Given the description of an element on the screen output the (x, y) to click on. 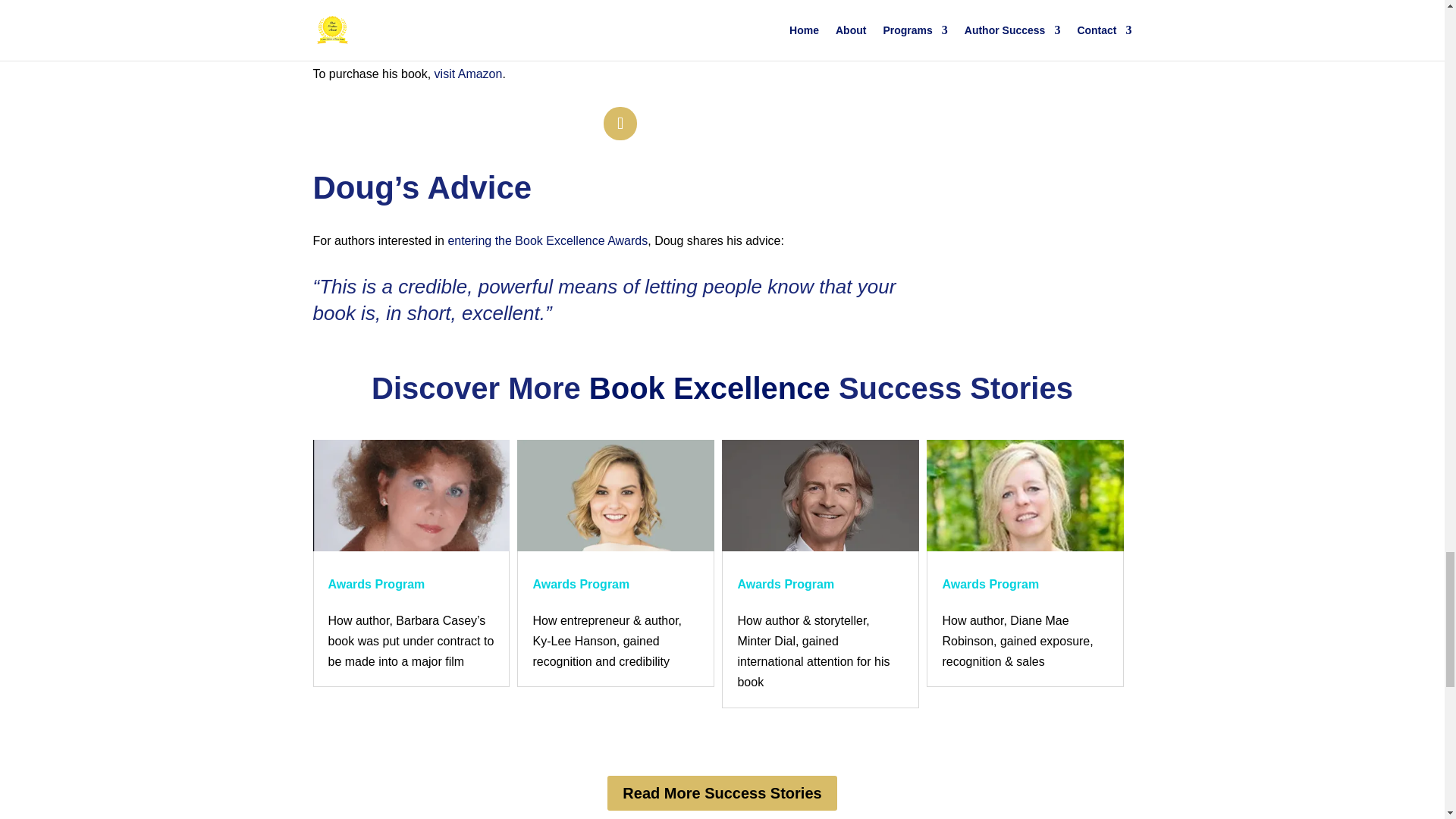
visit Amazon (467, 73)
send him an email (632, 41)
entering the Book Excellence Awards (546, 240)
Follow on dribbble (620, 123)
Book Excellence (709, 387)
